Given the description of an element on the screen output the (x, y) to click on. 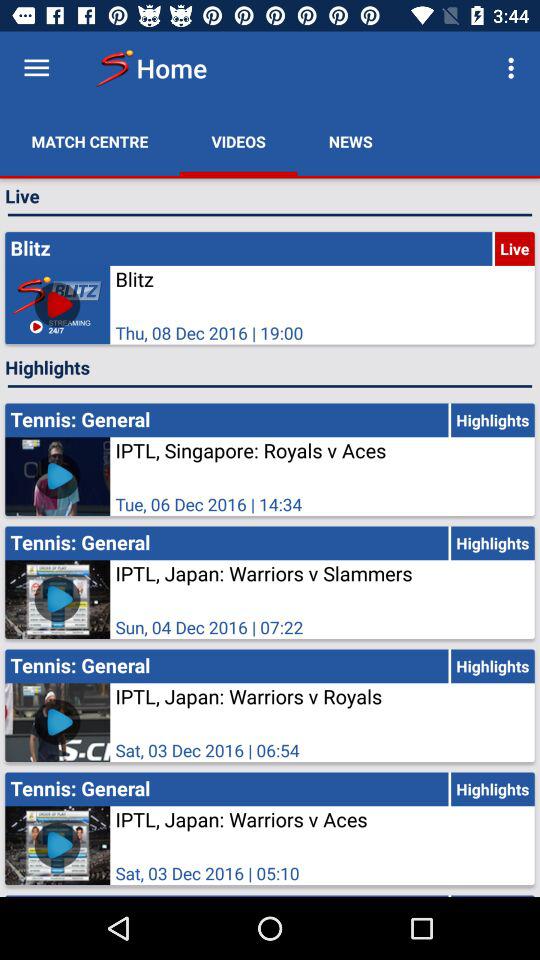
tap the app to the right of the news item (513, 67)
